Given the description of an element on the screen output the (x, y) to click on. 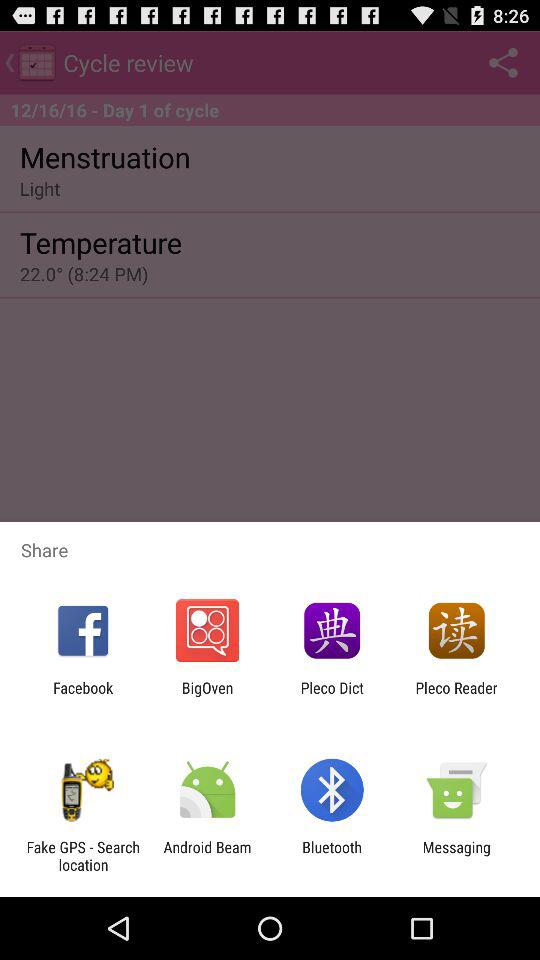
tap pleco reader (456, 696)
